Given the description of an element on the screen output the (x, y) to click on. 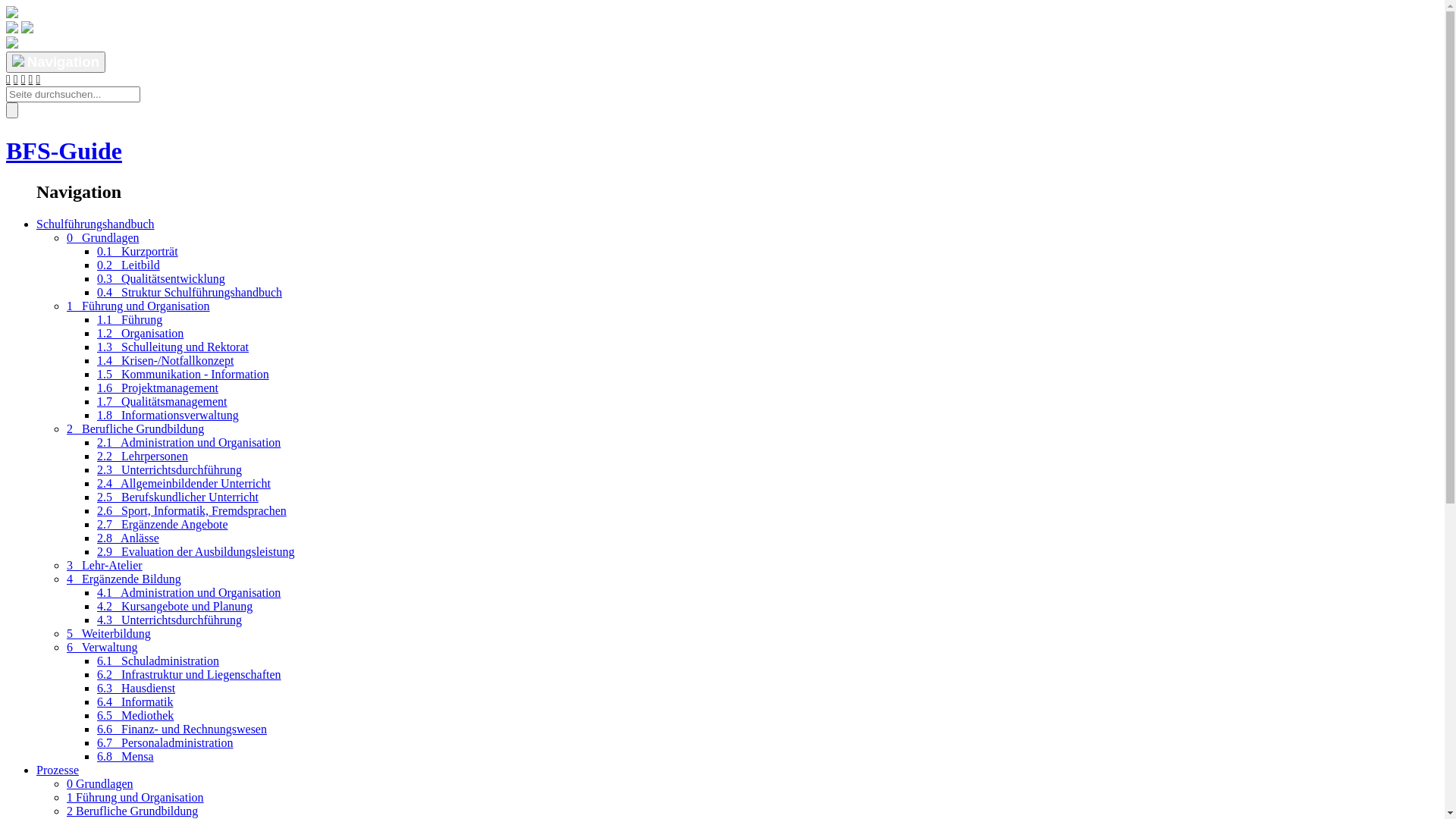
6   Verwaltung Element type: text (101, 646)
2.2   Lehrpersonen Element type: text (142, 455)
Impressum Element type: hover (30, 78)
1.3   Schulleitung und Rektorat Element type: text (172, 346)
4.2   Kursangebote und Planung Element type: text (174, 605)
4.1   Administration und Organisation Element type: text (188, 592)
0   Grundlagen Element type: text (102, 237)
0.2   Leitbild Element type: text (128, 264)
6.3   Hausdienst Element type: text (136, 687)
6.1   Schuladministration Element type: text (158, 660)
0 Grundlagen Element type: text (99, 783)
1.5   Kommunikation - Information Element type: text (183, 373)
Prozesse Element type: text (57, 769)
2.1   Administration und Organisation Element type: text (188, 442)
Home Element type: hover (8, 78)
Kontakt Element type: hover (37, 78)
2 Berufliche Grundbildung Element type: text (131, 810)
Update Element type: hover (23, 78)
BFS-Guide Element type: text (64, 150)
3   Lehr-Atelier Element type: text (104, 564)
6.8   Mensa Element type: text (125, 755)
2   Berufliche Grundbildung Element type: text (134, 428)
2.4   Allgemeinbildender Unterricht Element type: text (183, 482)
6.5   Mediothek Element type: text (135, 715)
1.8   Informationsverwaltung Element type: text (167, 414)
6.4   Informatik Element type: text (134, 701)
6.6   Finanz- und Rechnungswesen Element type: text (181, 728)
Start Element type: hover (15, 78)
2.9   Evaluation der Ausbildungsleistung Element type: text (195, 551)
1.2   Organisation Element type: text (140, 332)
2.5   Berufskundlicher Unterricht Element type: text (177, 496)
1.4   Krisen-/Notfallkonzept Element type: text (165, 360)
6.7   Personaladministration Element type: text (165, 742)
Navigation Element type: text (55, 61)
1.6   Projektmanagement Element type: text (157, 387)
2.6   Sport, Informatik, Fremdsprachen Element type: text (191, 510)
5   Weiterbildung Element type: text (108, 633)
6.2   Infrastruktur und Liegenschaften Element type: text (189, 674)
